Given the description of an element on the screen output the (x, y) to click on. 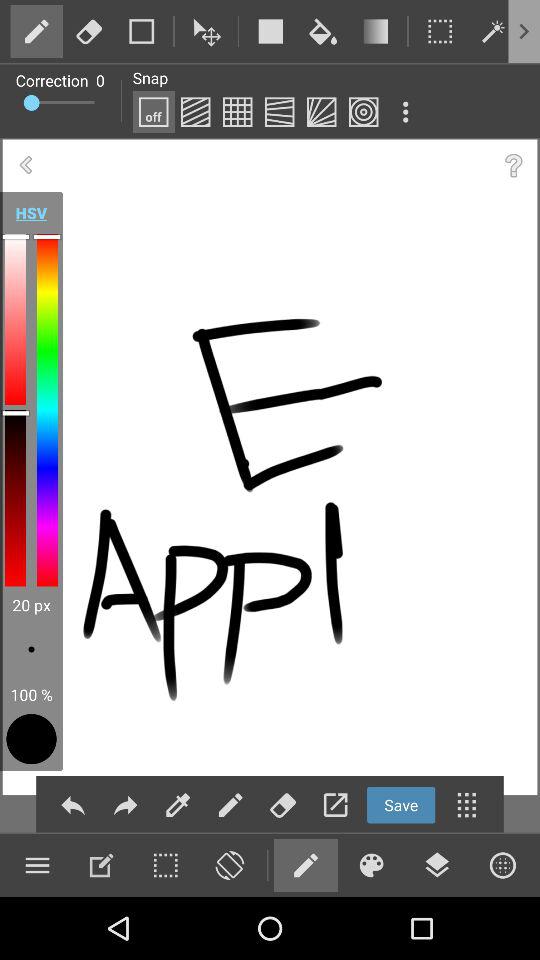
color palate (371, 865)
